Given the description of an element on the screen output the (x, y) to click on. 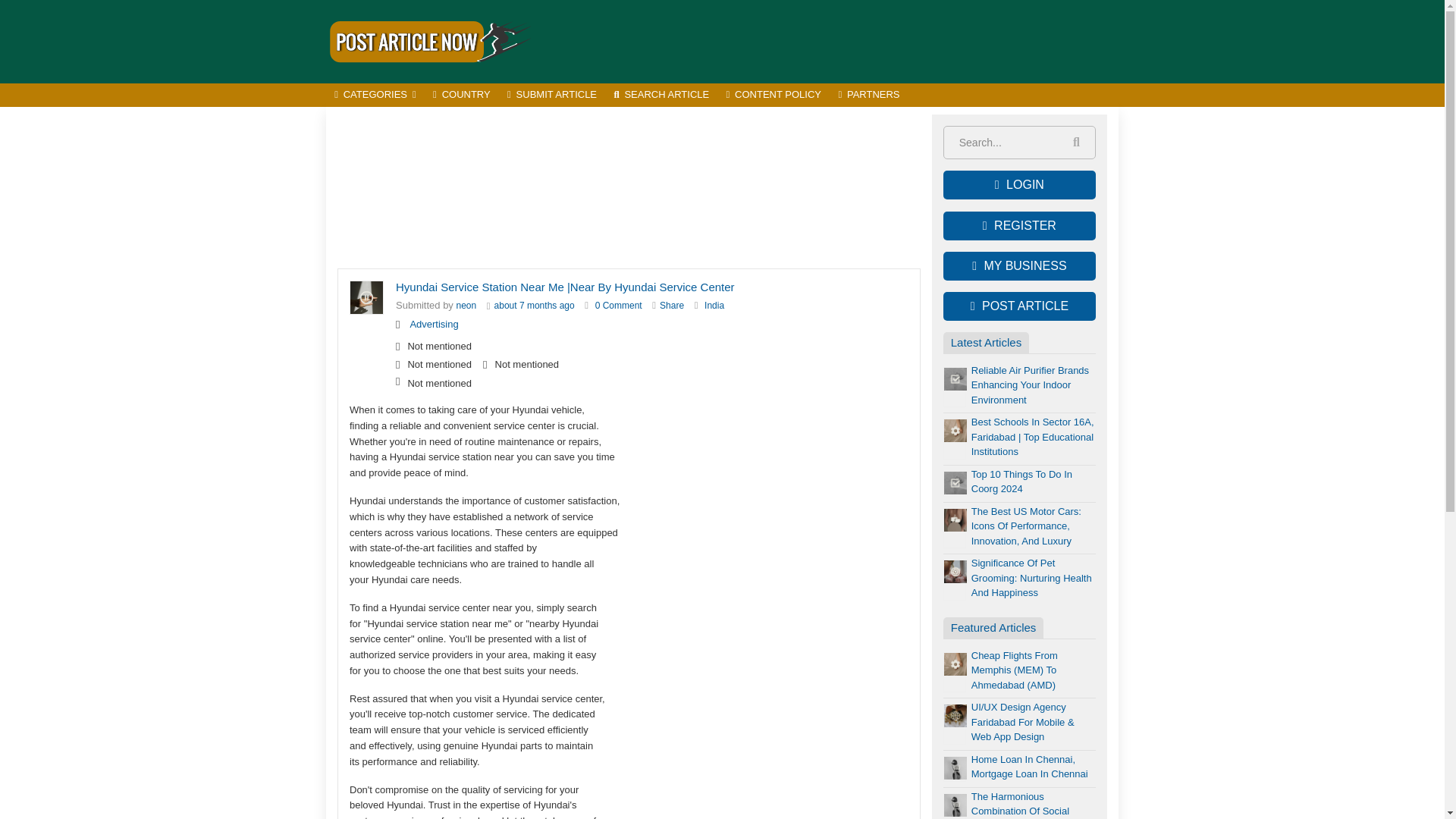
CATEGORIES (375, 95)
POST ARTICLE (1019, 306)
neon (467, 305)
COUNTRY (462, 95)
SEARCH ARTICLE (661, 95)
0 Comment (618, 305)
REGISTER (1019, 225)
Advertisement (842, 41)
Advertising (433, 324)
PARTNERS (868, 95)
CONTENT POLICY (773, 95)
Share (671, 305)
SUBMIT ARTICLE (552, 95)
MY BUSINESS (1019, 265)
LOGIN (1019, 184)
